Given the description of an element on the screen output the (x, y) to click on. 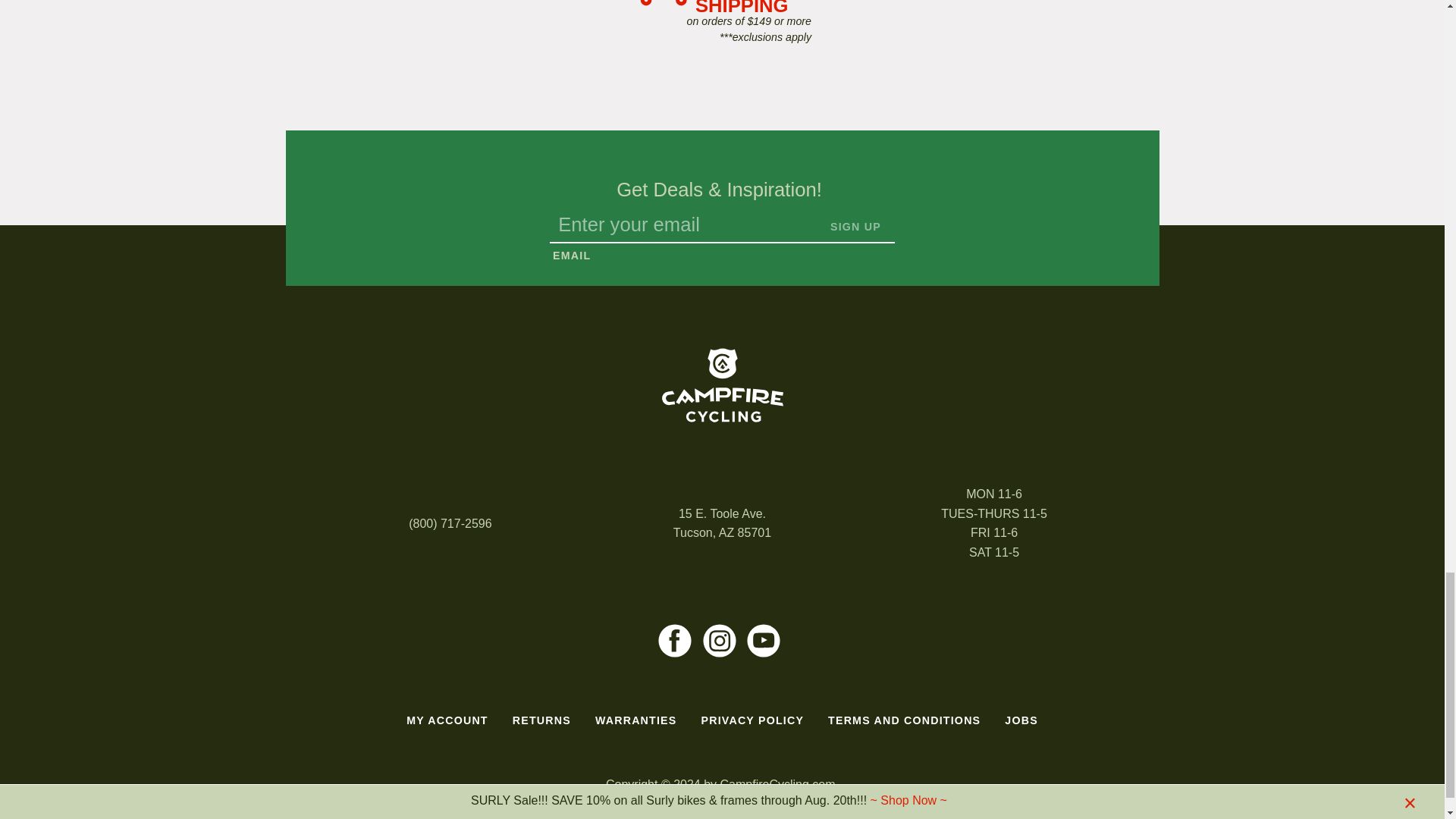
Facebook (675, 640)
YouTube (762, 640)
Instagram (718, 640)
to home page (722, 385)
